Given the description of an element on the screen output the (x, y) to click on. 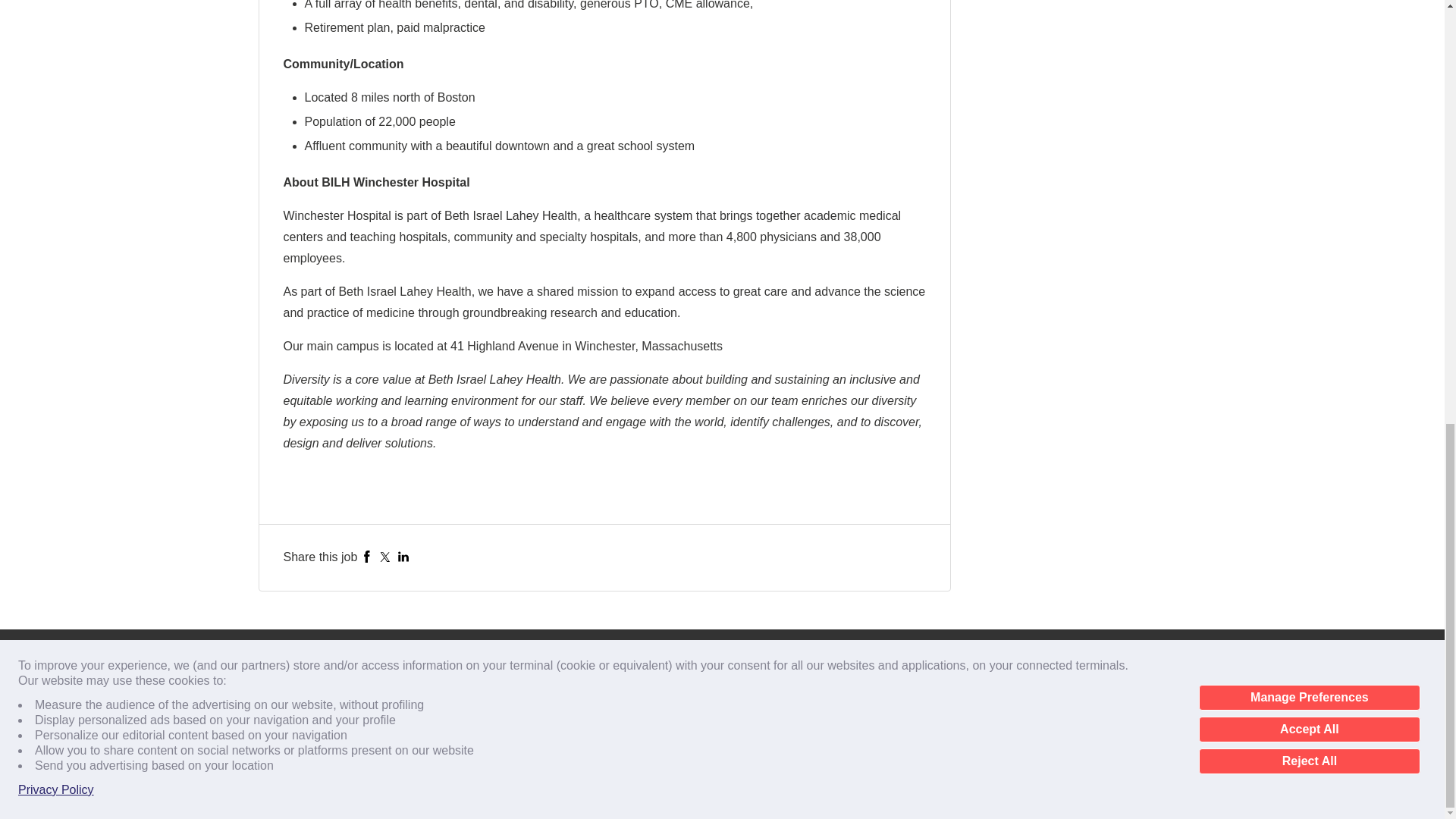
Facebook (366, 556)
Twitter (384, 556)
LinkedIn (403, 556)
MEMBERSHIP AND SUPPORT (339, 683)
CONTACT US (304, 661)
